Given the description of an element on the screen output the (x, y) to click on. 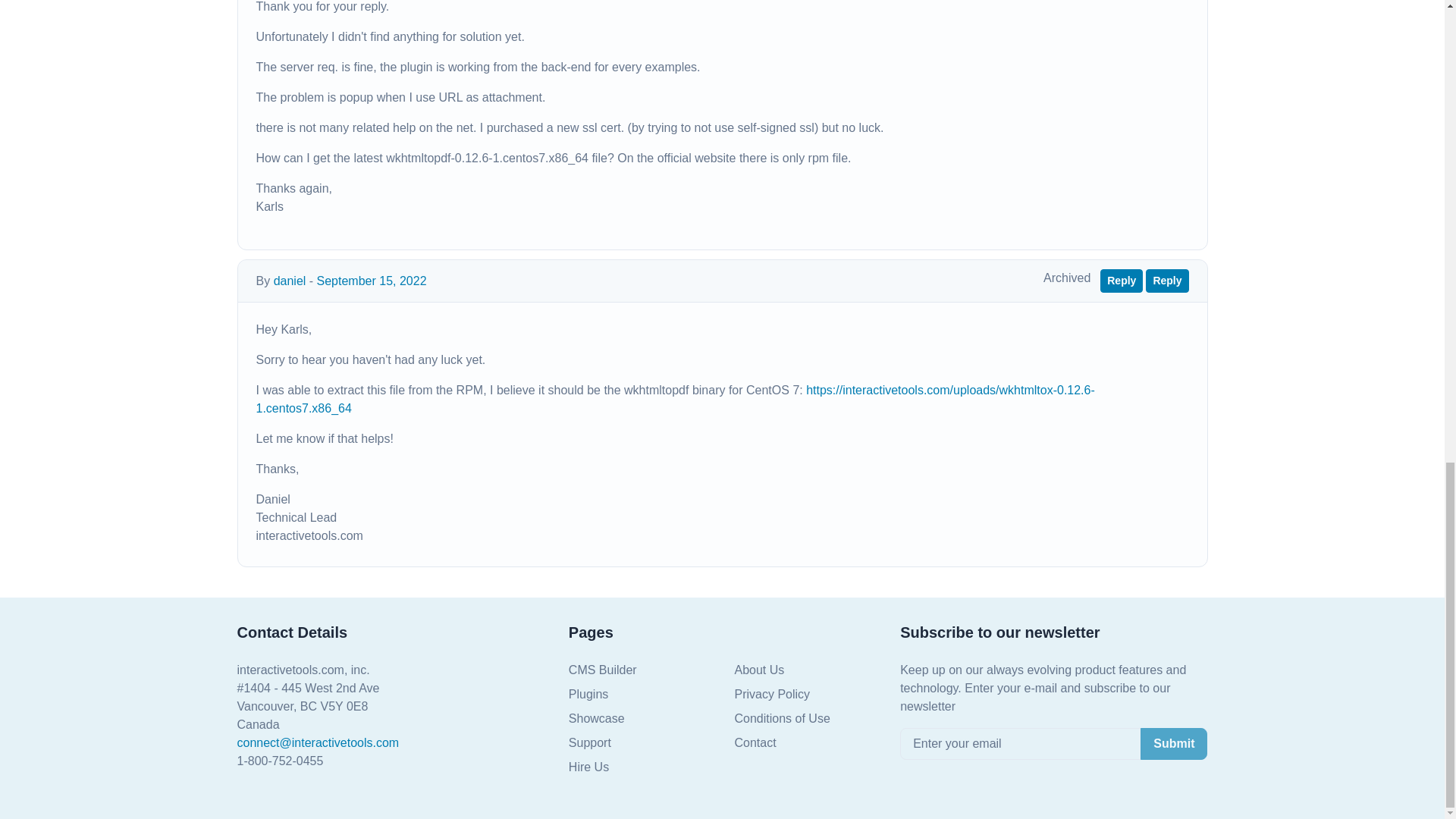
Sep 15th, 2022 5:25 pm (371, 280)
